Given the description of an element on the screen output the (x, y) to click on. 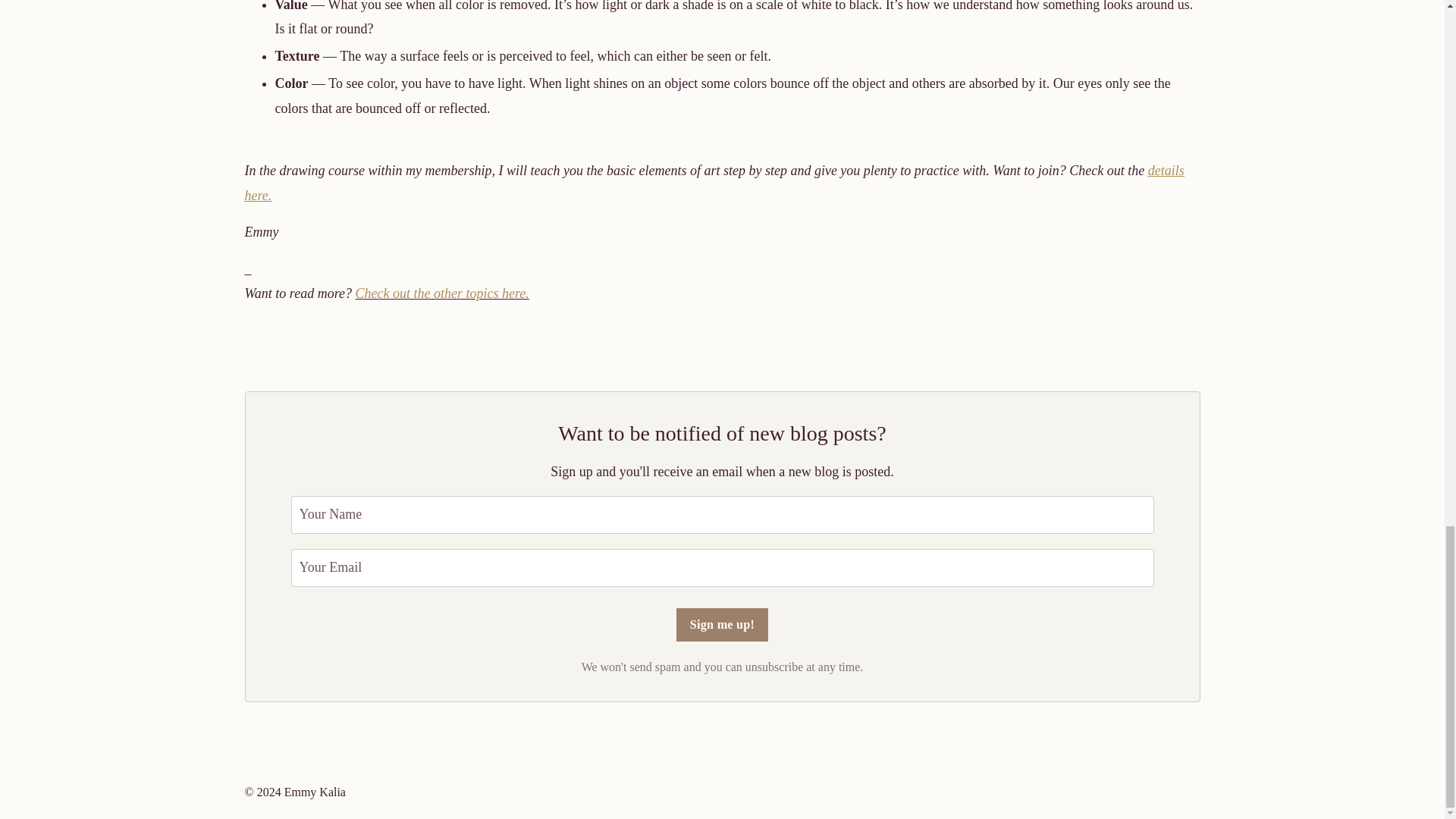
Check out the other topics here. (441, 293)
details here. (713, 182)
Sign me up! (722, 624)
Sign me up! (722, 624)
